Given the description of an element on the screen output the (x, y) to click on. 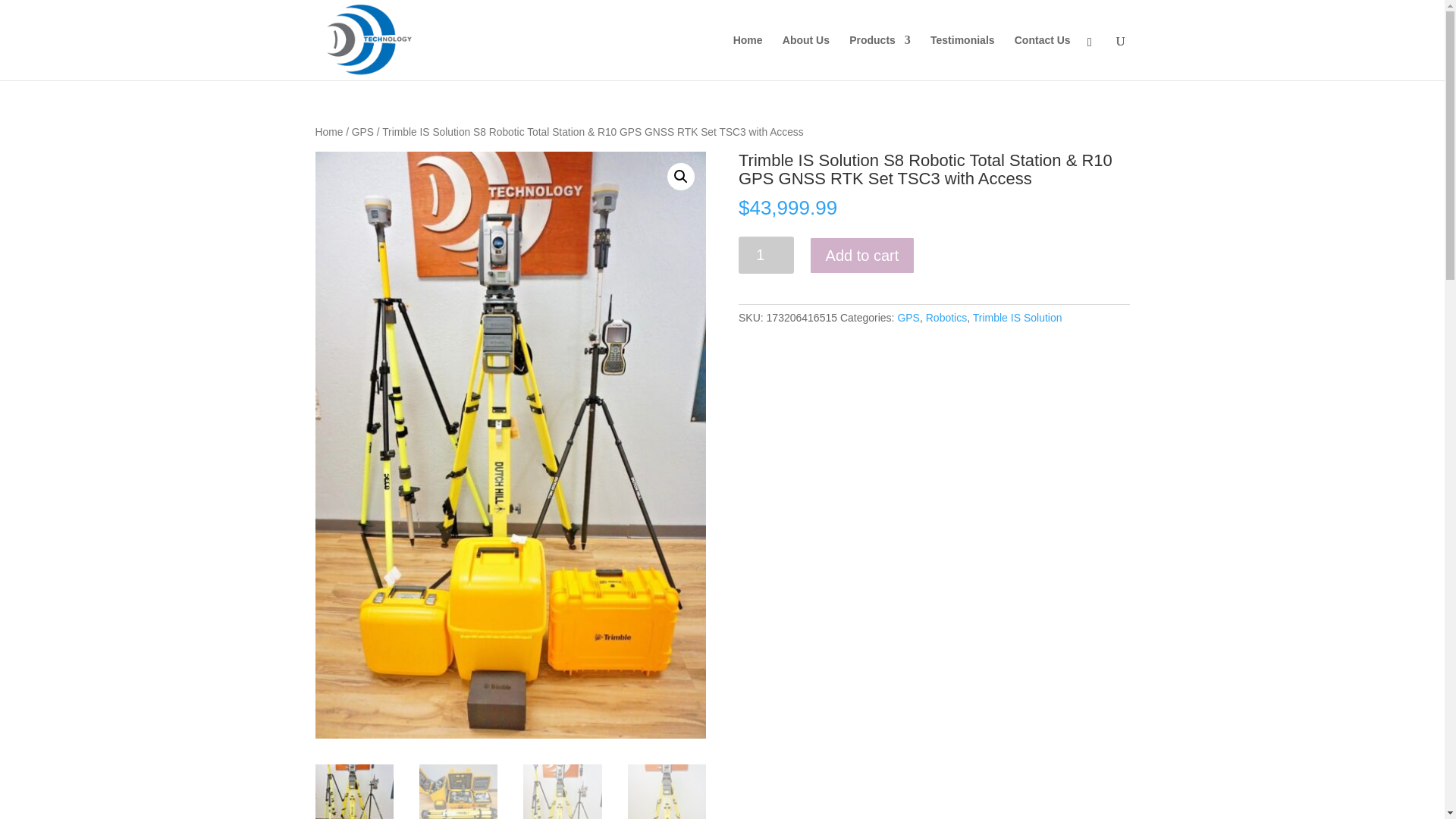
Products (879, 57)
GPS (908, 317)
Contact Us (1042, 57)
Testimonials (962, 57)
Robotics (946, 317)
Trimble IS Solution (1017, 317)
Qty (765, 254)
About Us (806, 57)
1 (765, 254)
Add to cart (862, 255)
